Given the description of an element on the screen output the (x, y) to click on. 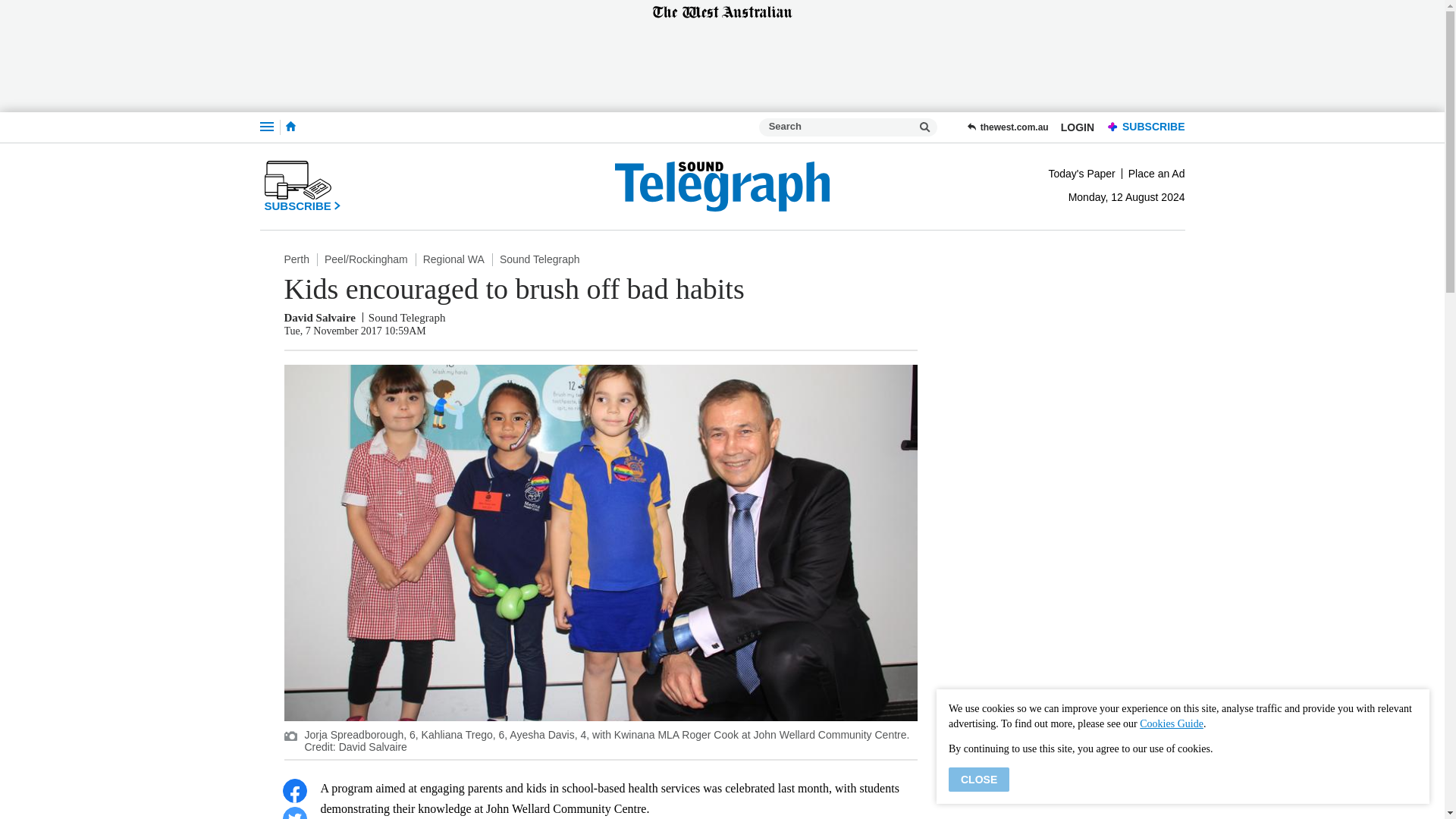
Home (290, 126)
PREMIUMSUBSCRIBE (1142, 127)
SUBSCRIBE CHEVRON RIGHT ICON (302, 185)
LOGIN (1077, 127)
thewest.com.au (1007, 127)
Please enter a search term. (924, 127)
Home (290, 126)
PREMIUM (1112, 126)
